Given the description of an element on the screen output the (x, y) to click on. 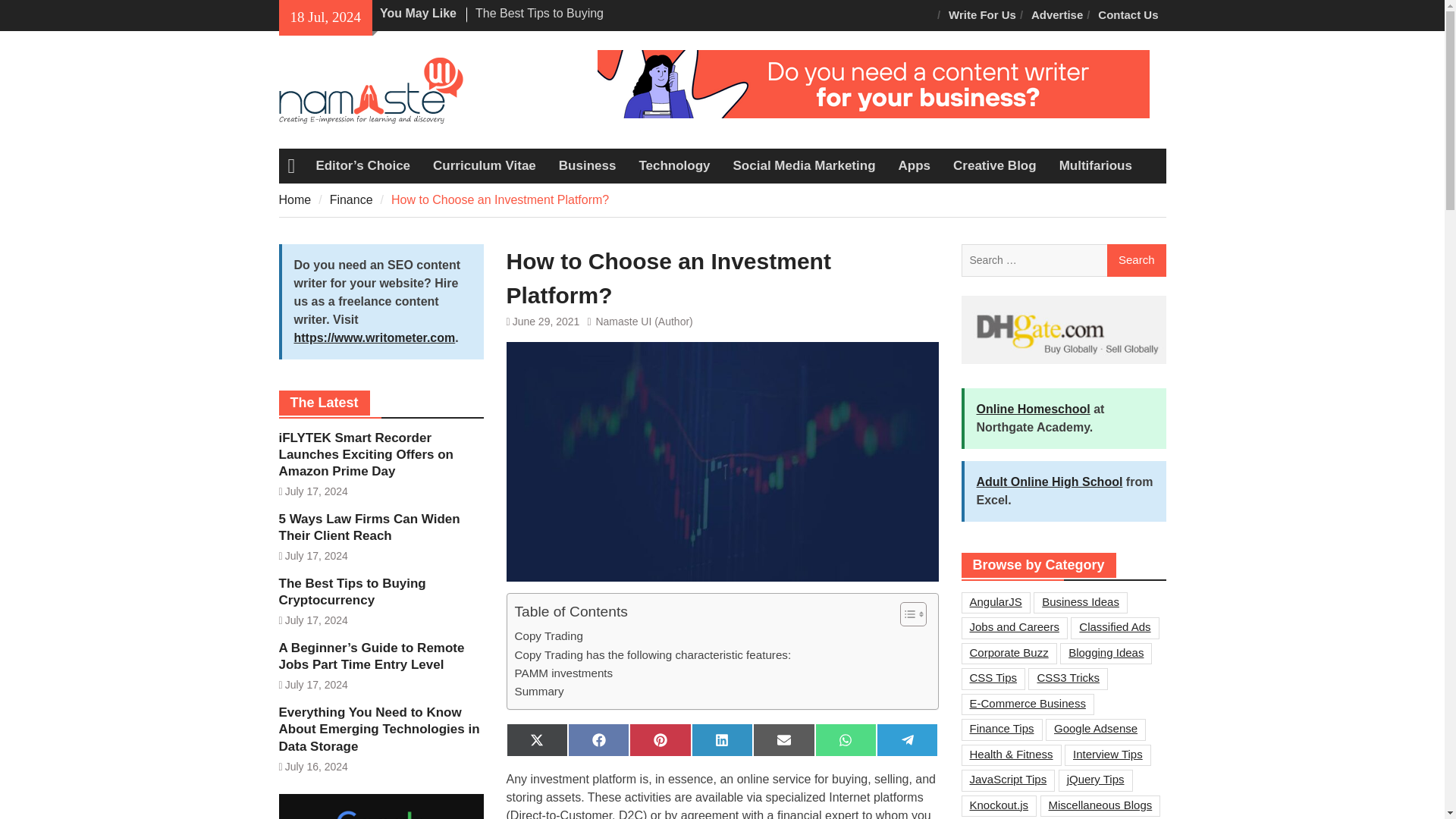
Business (587, 165)
Contact Us (1128, 15)
PAMM investments (562, 673)
Contact Us (1128, 15)
PAMM investments (562, 673)
Technology (673, 165)
Curriculum Vitae (484, 165)
Home (295, 198)
Apps (914, 165)
Share on Email (782, 739)
Write For Us (981, 15)
The Best Tips to Buying Cryptocurrency (540, 21)
Share on Facebook (597, 739)
Share on Pinterest (659, 739)
June 29, 2021 (545, 321)
